Given the description of an element on the screen output the (x, y) to click on. 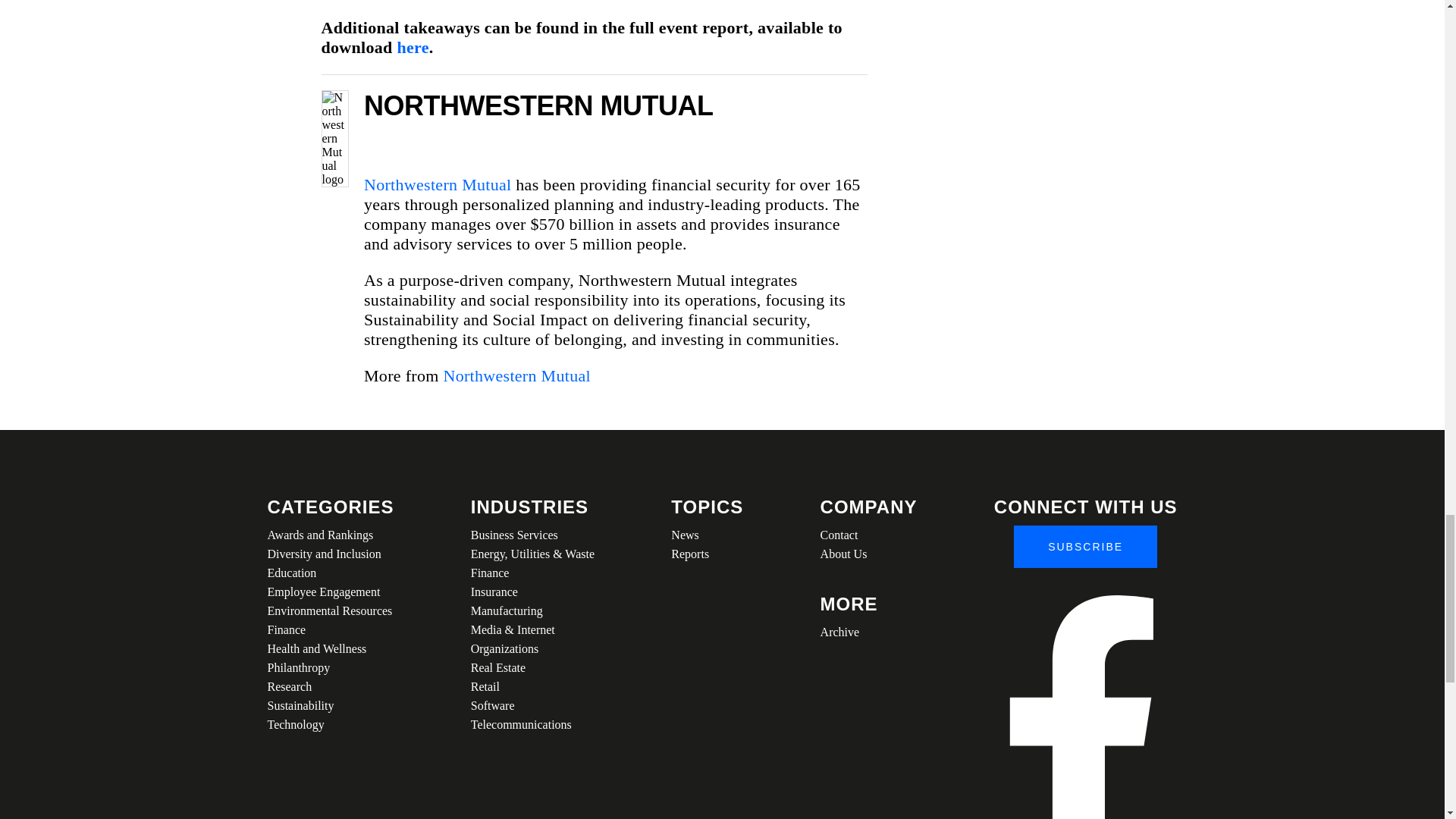
here (412, 46)
Northwestern Mutual (516, 375)
Awards and Rankings (329, 534)
Northwestern Mutual (438, 184)
Employee Engagement (329, 591)
CATEGORIES (329, 506)
Education (329, 572)
Diversity and Inclusion (329, 553)
